Given the description of an element on the screen output the (x, y) to click on. 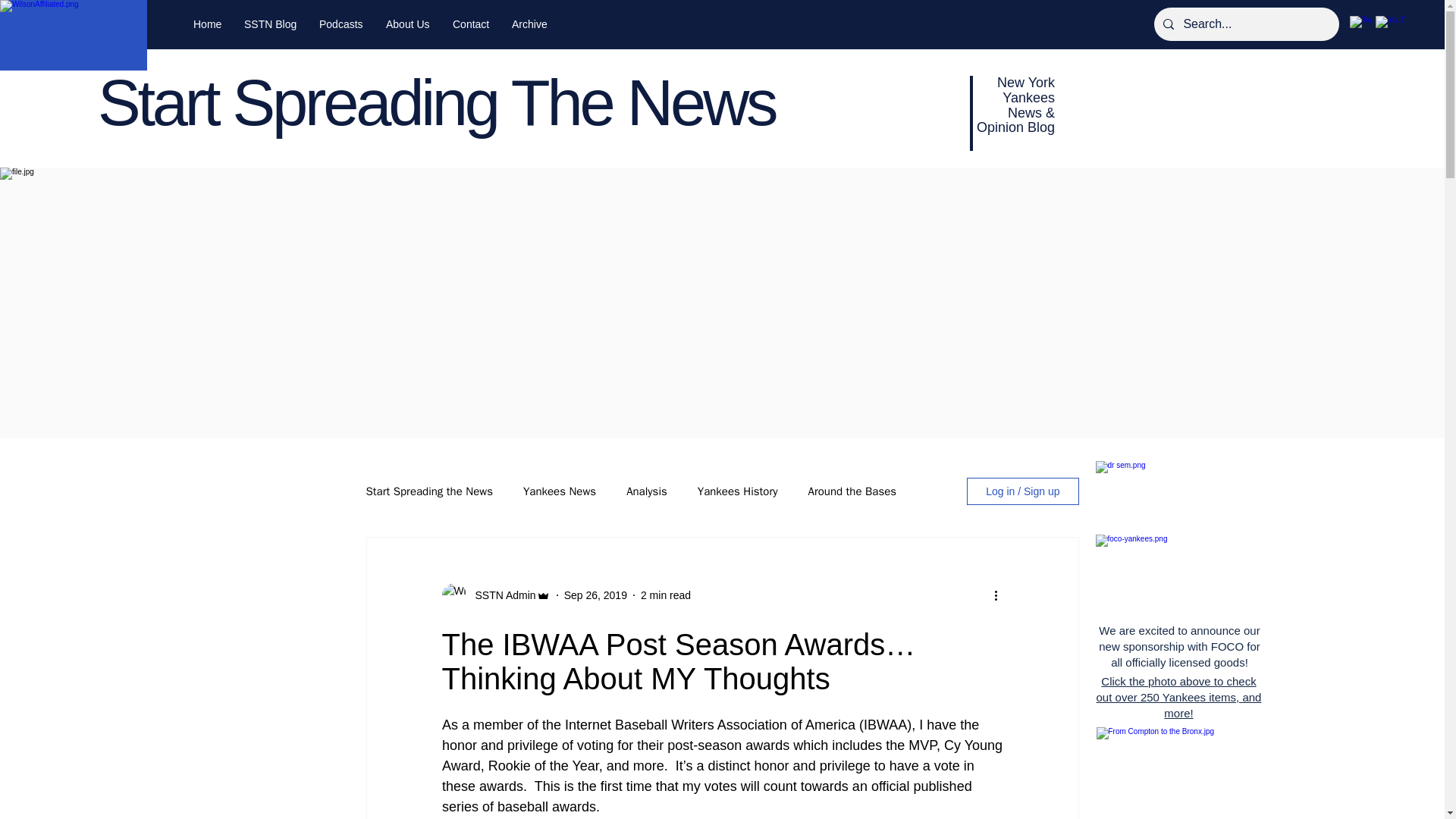
Analysis (646, 490)
Yankees News (558, 490)
Archive (529, 24)
2 min read (665, 594)
Contact (470, 24)
About Us (407, 24)
Podcasts (340, 24)
Yankees History (737, 490)
Home (207, 24)
Sep 26, 2019 (595, 594)
Start Spreading The News (435, 102)
SSTN Admin (500, 594)
Start Spreading the News (428, 490)
SSTN Blog (269, 24)
Around the Bases (852, 490)
